Given the description of an element on the screen output the (x, y) to click on. 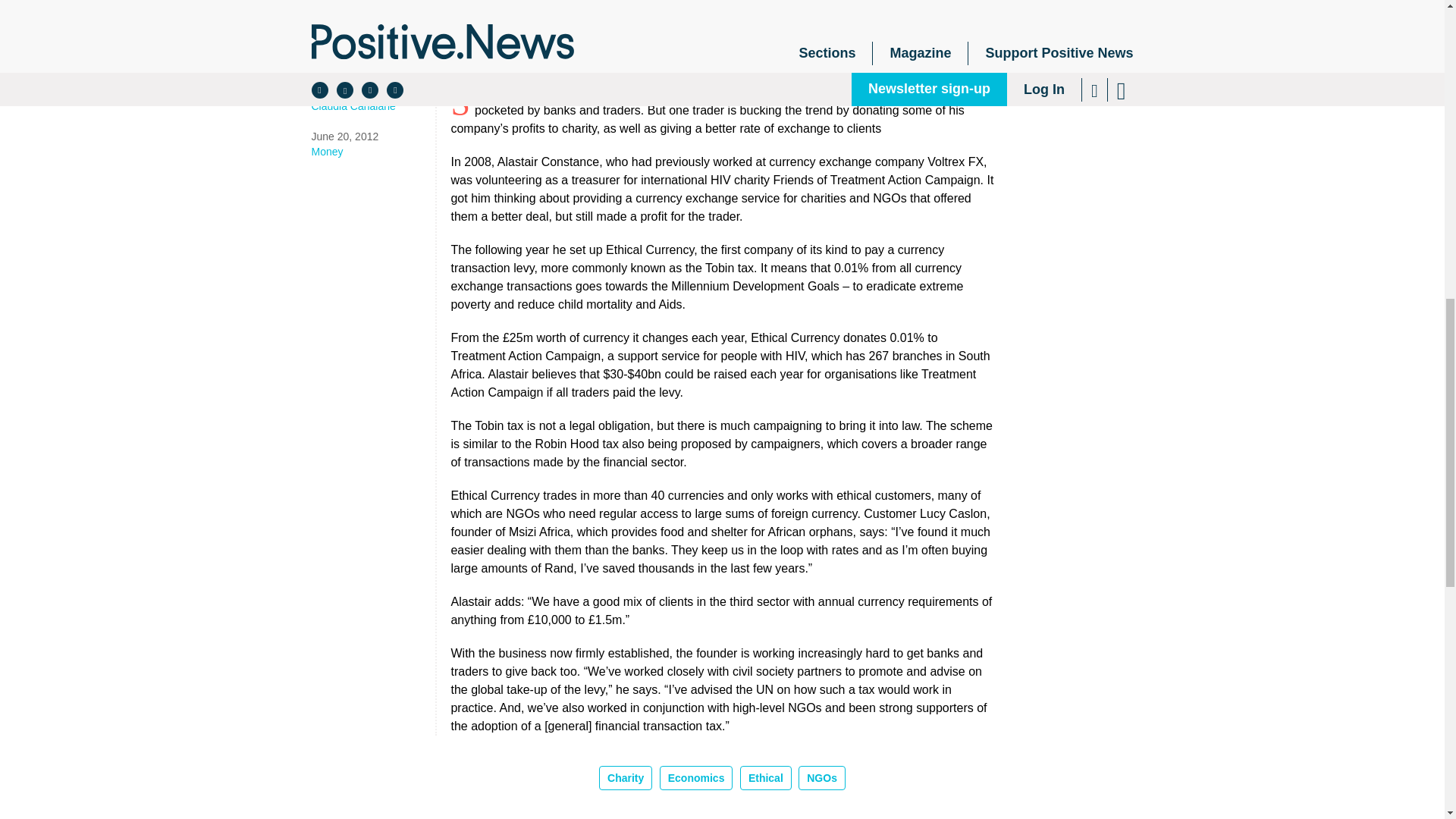
NGOs (821, 777)
Ethical (765, 777)
Claudia Cahalane (372, 105)
Economics (696, 777)
Money (372, 151)
Charity (625, 777)
